Given the description of an element on the screen output the (x, y) to click on. 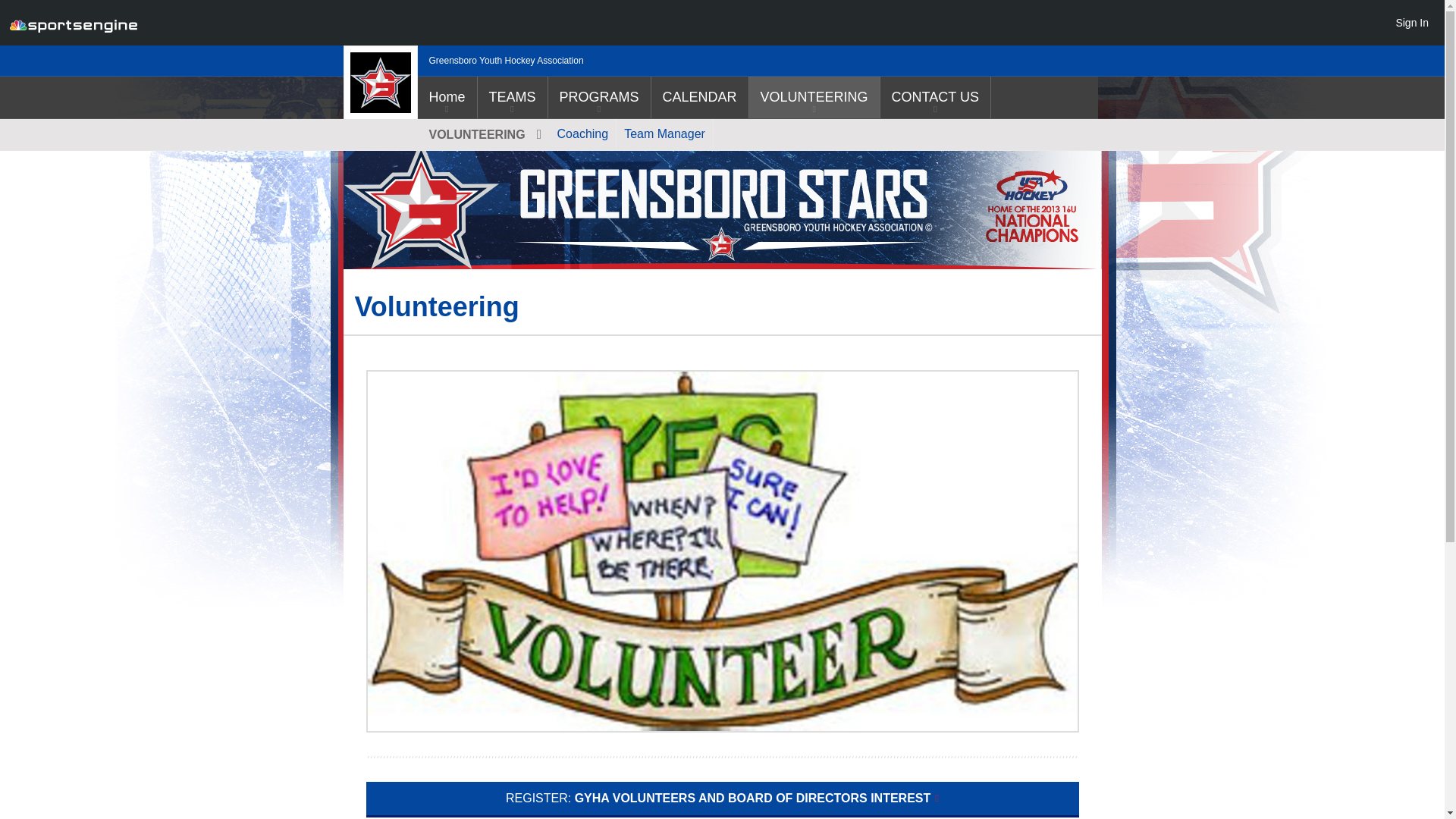
VOLUNTEERING (482, 133)
Coaching (582, 133)
click to go to 'Home' (446, 96)
click to go to 'CONTACT US' (935, 96)
click to go to 'Volunteering' (814, 96)
SportsEngine (73, 22)
click to go to 'Coaching' (582, 133)
VOLUNTEERING (814, 96)
TEAMS (512, 96)
Home (446, 96)
Team Manager (664, 133)
click to go to 'CALENDAR' (699, 96)
click to go to 'Team Manager' (664, 133)
click to go to 'PROGRAMS' (599, 96)
Sign In (1411, 22)
